Given the description of an element on the screen output the (x, y) to click on. 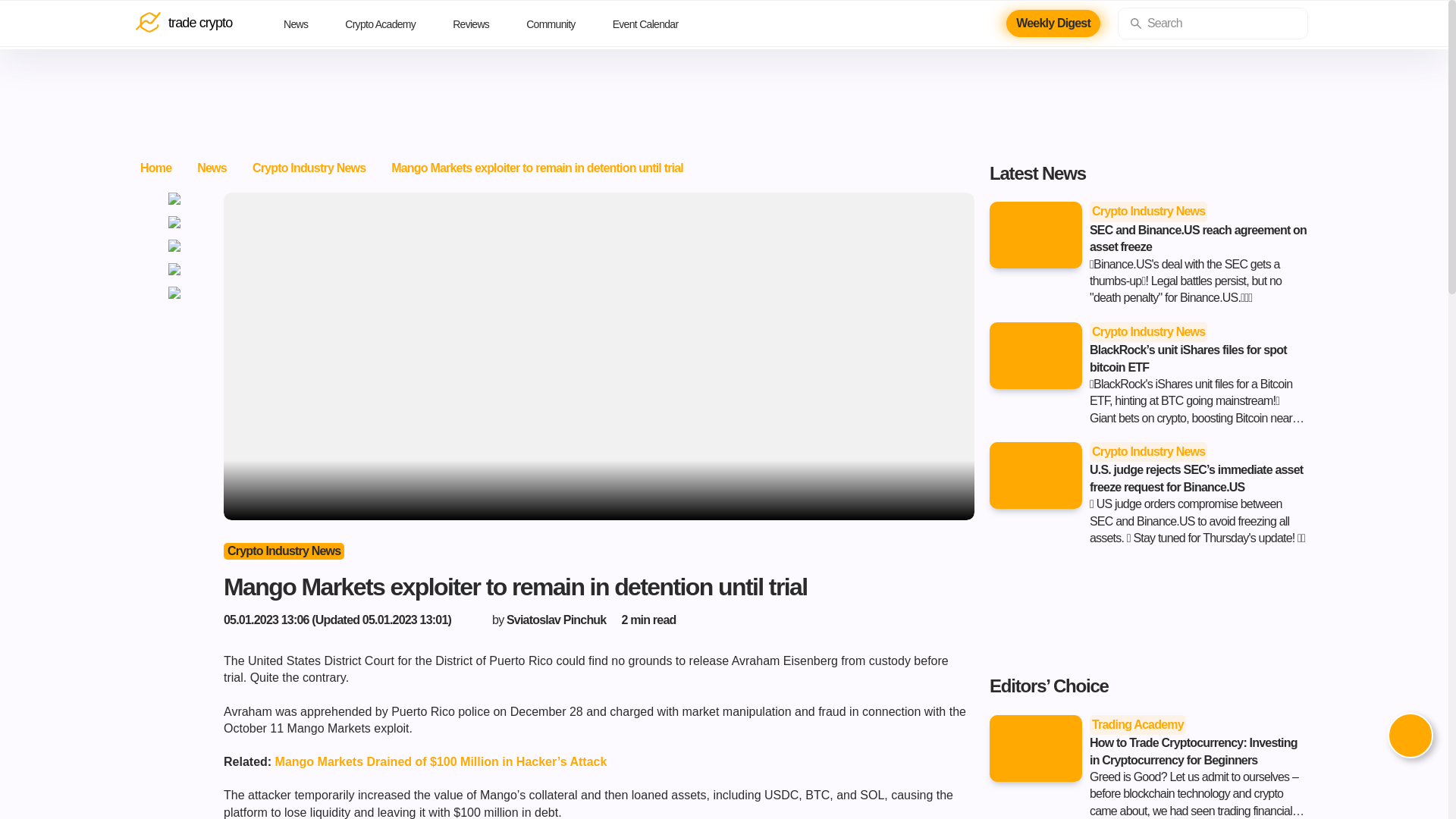
twitter (173, 245)
Reviews (482, 24)
Crypto Academy (391, 24)
pinterest (173, 268)
News (306, 24)
Facebook (173, 198)
Linkedin (173, 222)
Event Calendar (656, 24)
Weekly Digest (1053, 22)
Telegram (173, 292)
